Given the description of an element on the screen output the (x, y) to click on. 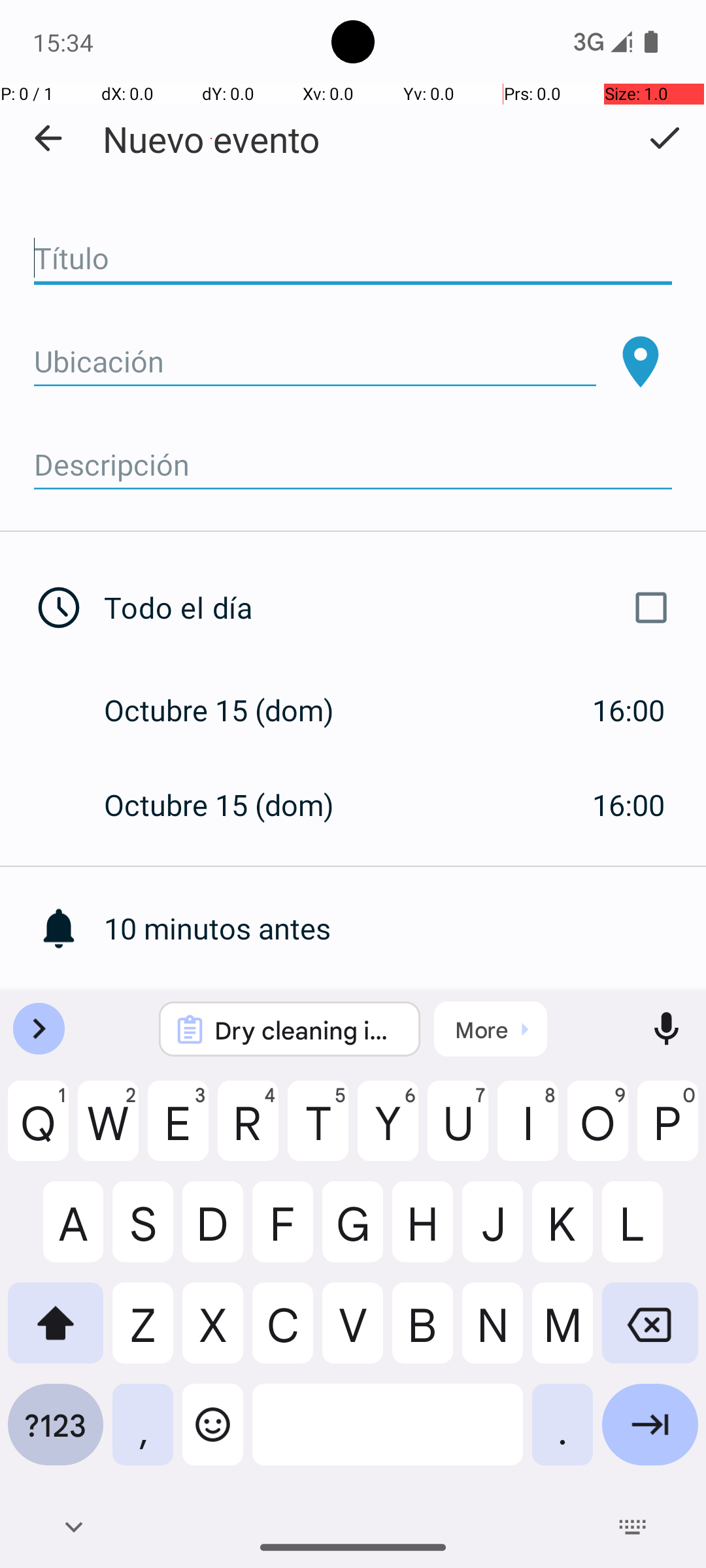
Guardar Element type: android.widget.Button (664, 137)
Título Element type: android.widget.EditText (352, 258)
Ubicación Element type: android.widget.EditText (314, 361)
Descripción Element type: android.widget.EditText (352, 465)
Octubre 15 (dom) Element type: android.widget.TextView (232, 709)
16:00 Element type: android.widget.TextView (628, 709)
10 minutos antes Element type: android.widget.TextView (404, 927)
Agregar otro recordatorio Element type: android.widget.TextView (404, 1022)
Todo el día Element type: android.widget.CheckBox (390, 607)
Dry cleaning is ready for pick-up. Element type: android.widget.TextView (306, 1029)
